Given the description of an element on the screen output the (x, y) to click on. 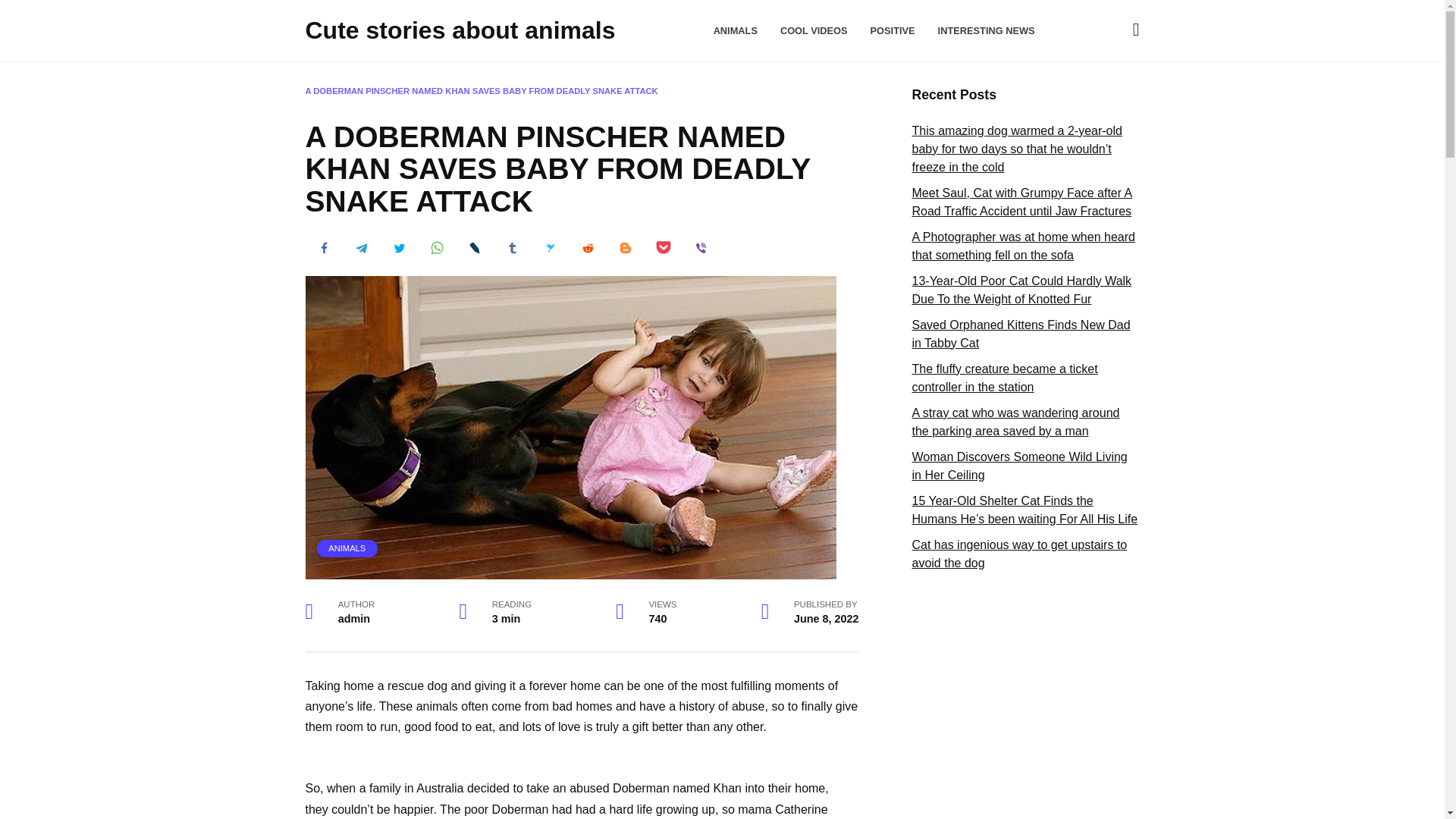
POSITIVE (892, 30)
ANIMALS (735, 30)
ANIMALS (347, 547)
INTERESTING NEWS (986, 30)
Saved Orphaned Kittens Finds New Dad in Tabby Cat (1020, 333)
Cat has ingenious way to get upstairs to avoid the dog (1018, 553)
Woman Discovers Someone Wild Living in Her Ceiling (1018, 465)
Cute stories about animals (459, 30)
COOL VIDEOS (813, 30)
